Given the description of an element on the screen output the (x, y) to click on. 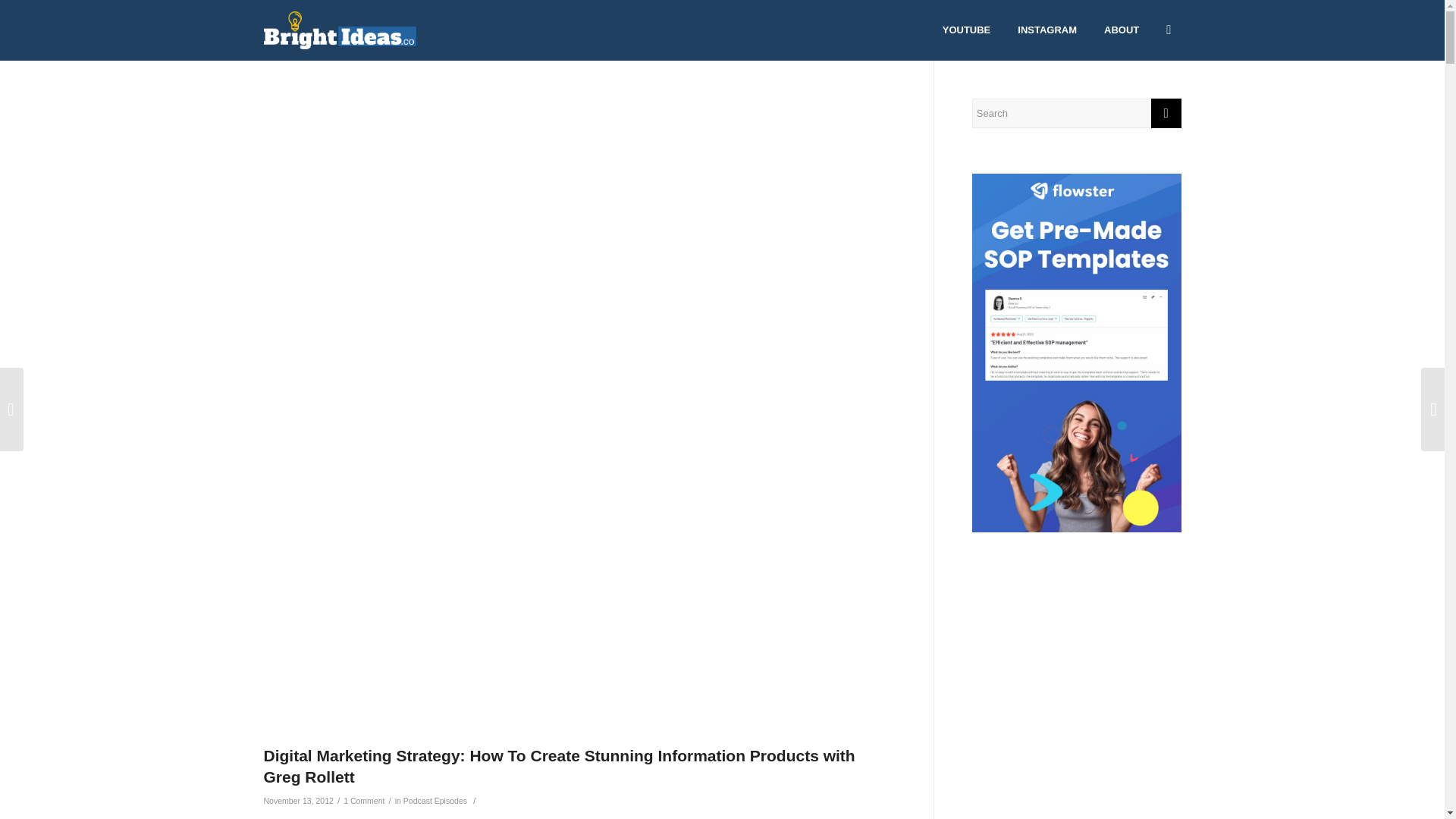
Podcast Episodes (435, 800)
YOUTUBE (967, 30)
ABOUT (1121, 30)
INSTAGRAM (1046, 30)
1 Comment (363, 800)
